Given the description of an element on the screen output the (x, y) to click on. 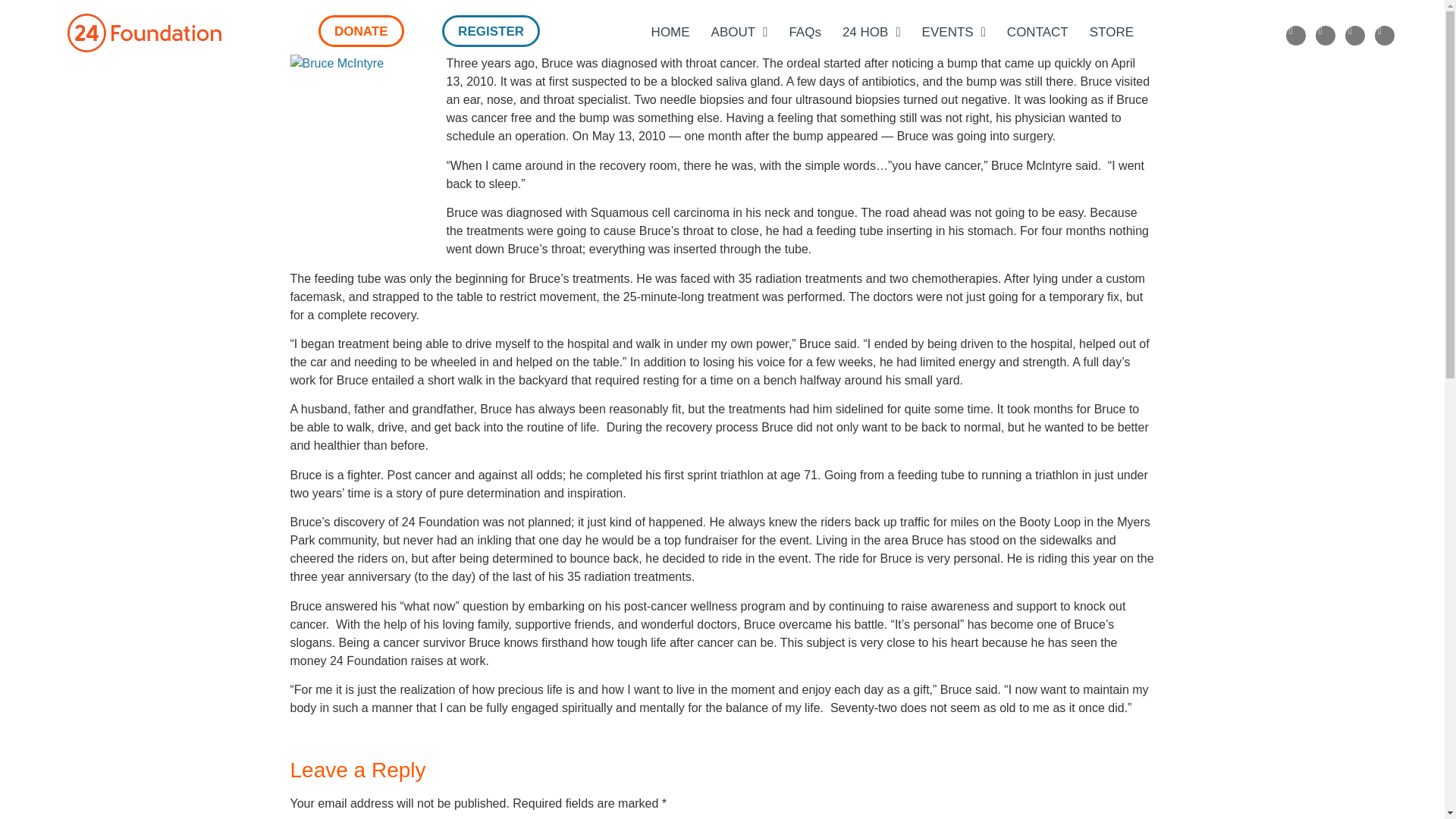
ABOUT (739, 32)
HOME (670, 32)
DONATE (361, 30)
FAQs (804, 32)
24 HOB (871, 32)
REGISTER (491, 30)
